Given the description of an element on the screen output the (x, y) to click on. 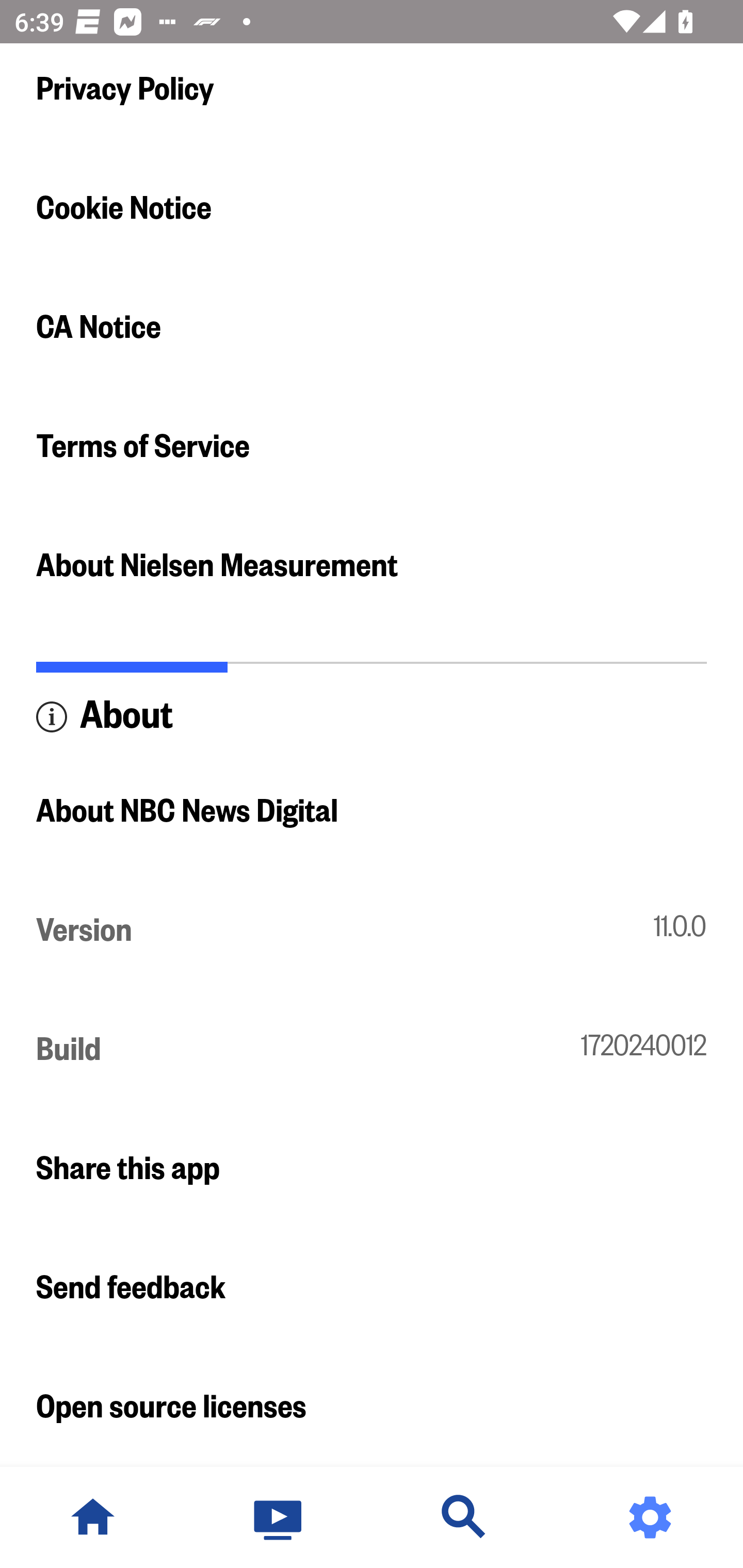
Privacy Policy (371, 88)
Cookie Notice (371, 208)
CA Notice (371, 327)
Terms of Service (371, 446)
About Nielsen Measurement (371, 565)
About NBC News Digital (371, 811)
Version 11.0.0 (371, 930)
Build 1720240012 (371, 1050)
Share this app (371, 1169)
Send feedback (371, 1288)
Open source licenses (371, 1407)
NBC News Home (92, 1517)
Watch (278, 1517)
Discover (464, 1517)
